Given the description of an element on the screen output the (x, y) to click on. 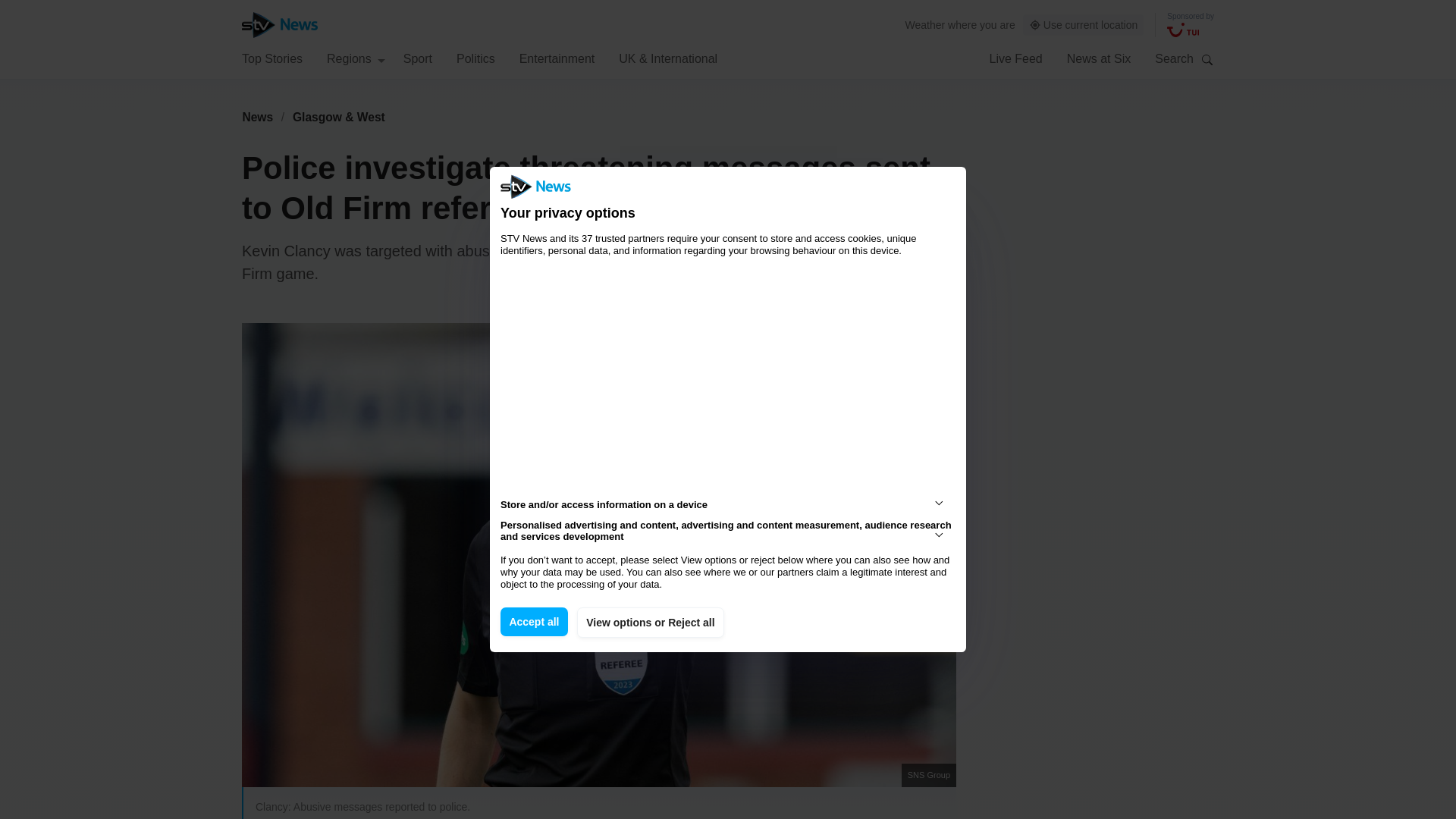
Regions (355, 57)
Live Feed (1015, 57)
News at Six (1099, 57)
Use current location (1083, 25)
Politics (476, 57)
News (257, 116)
Entertainment (557, 57)
Search (1206, 59)
Weather (924, 24)
Top Stories (271, 57)
